Given the description of an element on the screen output the (x, y) to click on. 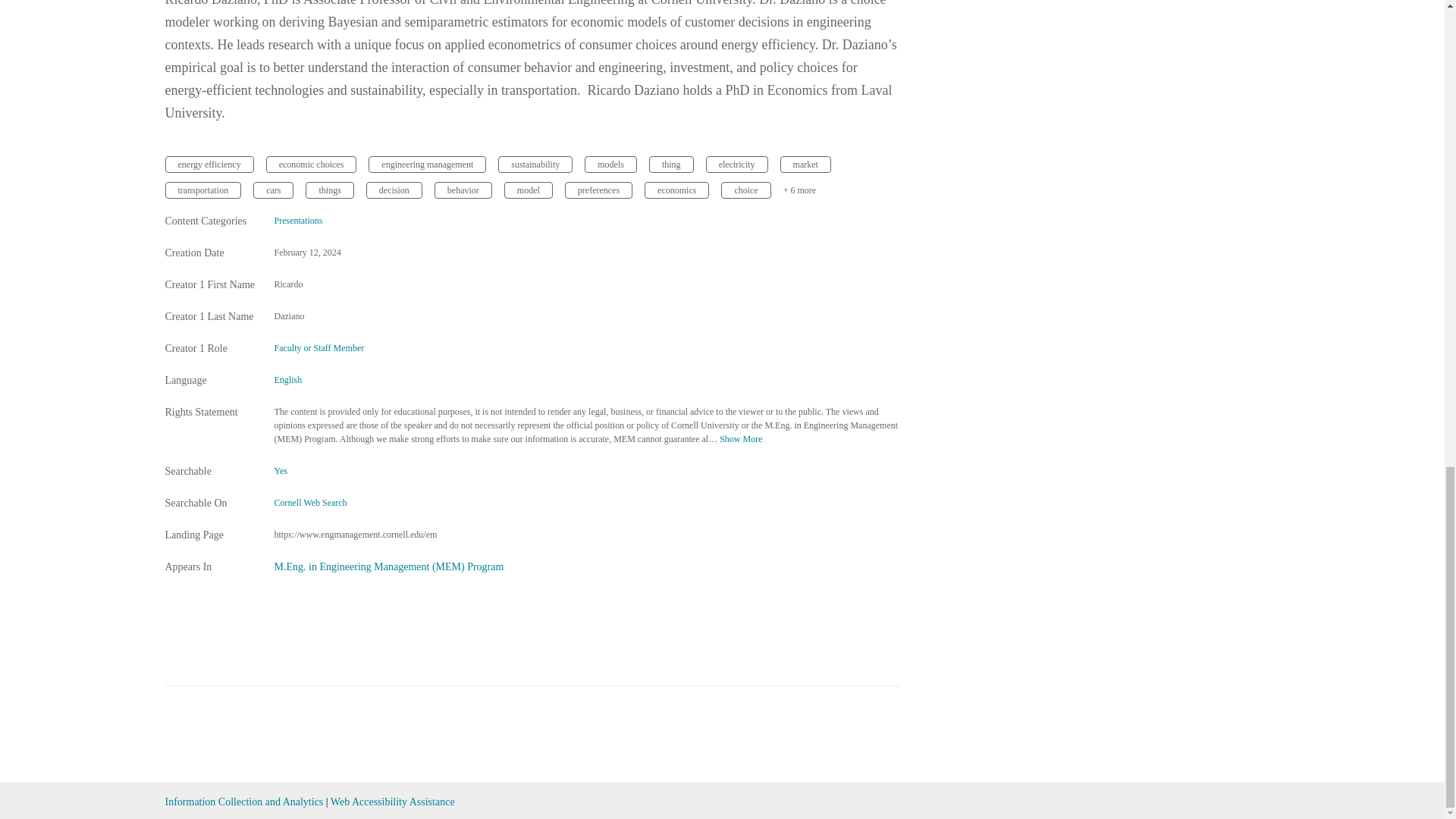
Creation Date (210, 253)
Content Categories (210, 221)
Creator 1 First Name (210, 284)
Creator 1 Last Name (210, 316)
